Given the description of an element on the screen output the (x, y) to click on. 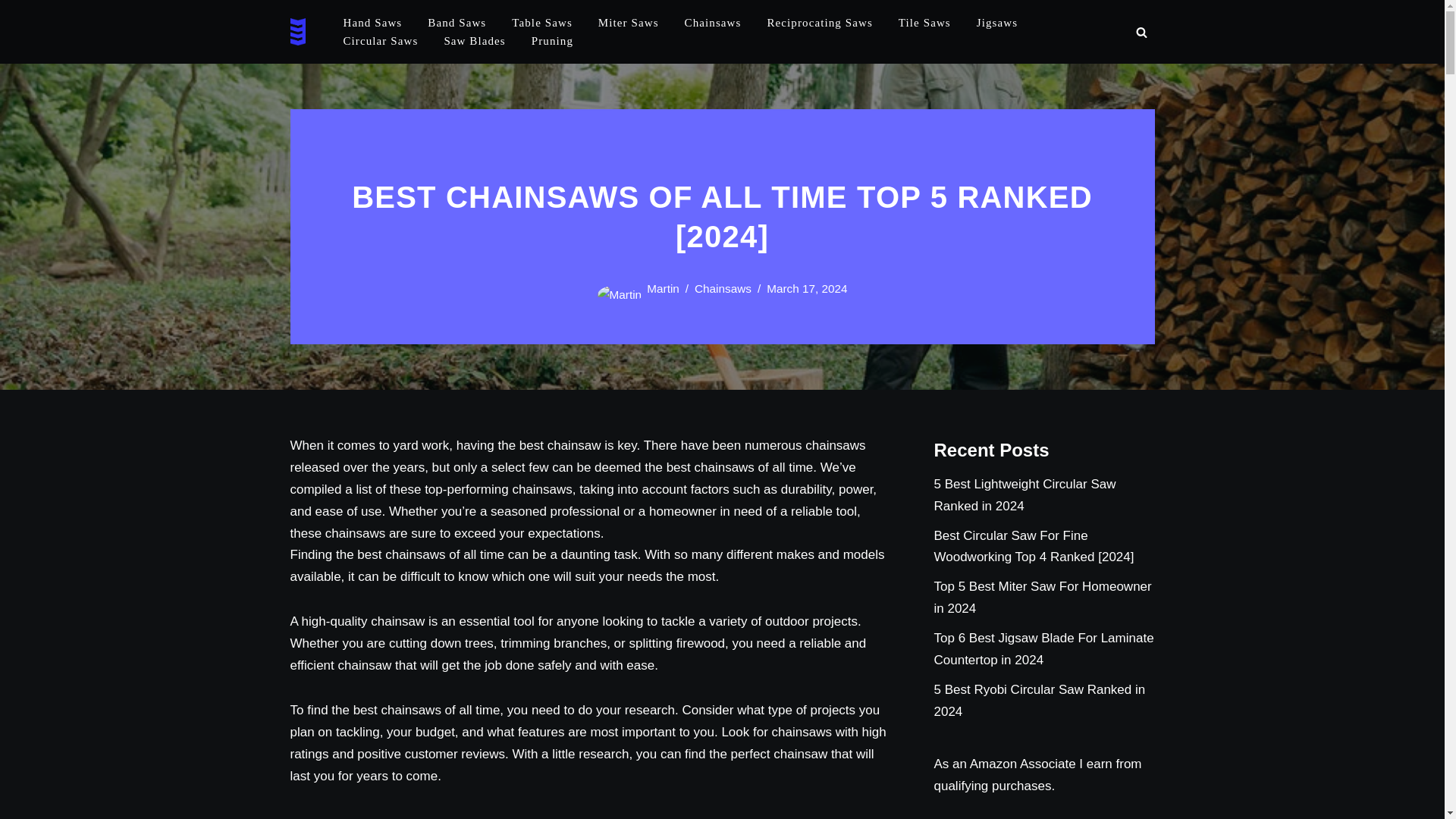
Hand Saws (371, 22)
Martin (662, 287)
Tile Saws (924, 22)
Circular Saws (379, 40)
Table Saws (542, 22)
Posts by Martin (662, 287)
Band Saws (457, 22)
Chainsaws (712, 22)
Reciprocating Saws (819, 22)
Chainsaws (722, 287)
